Given the description of an element on the screen output the (x, y) to click on. 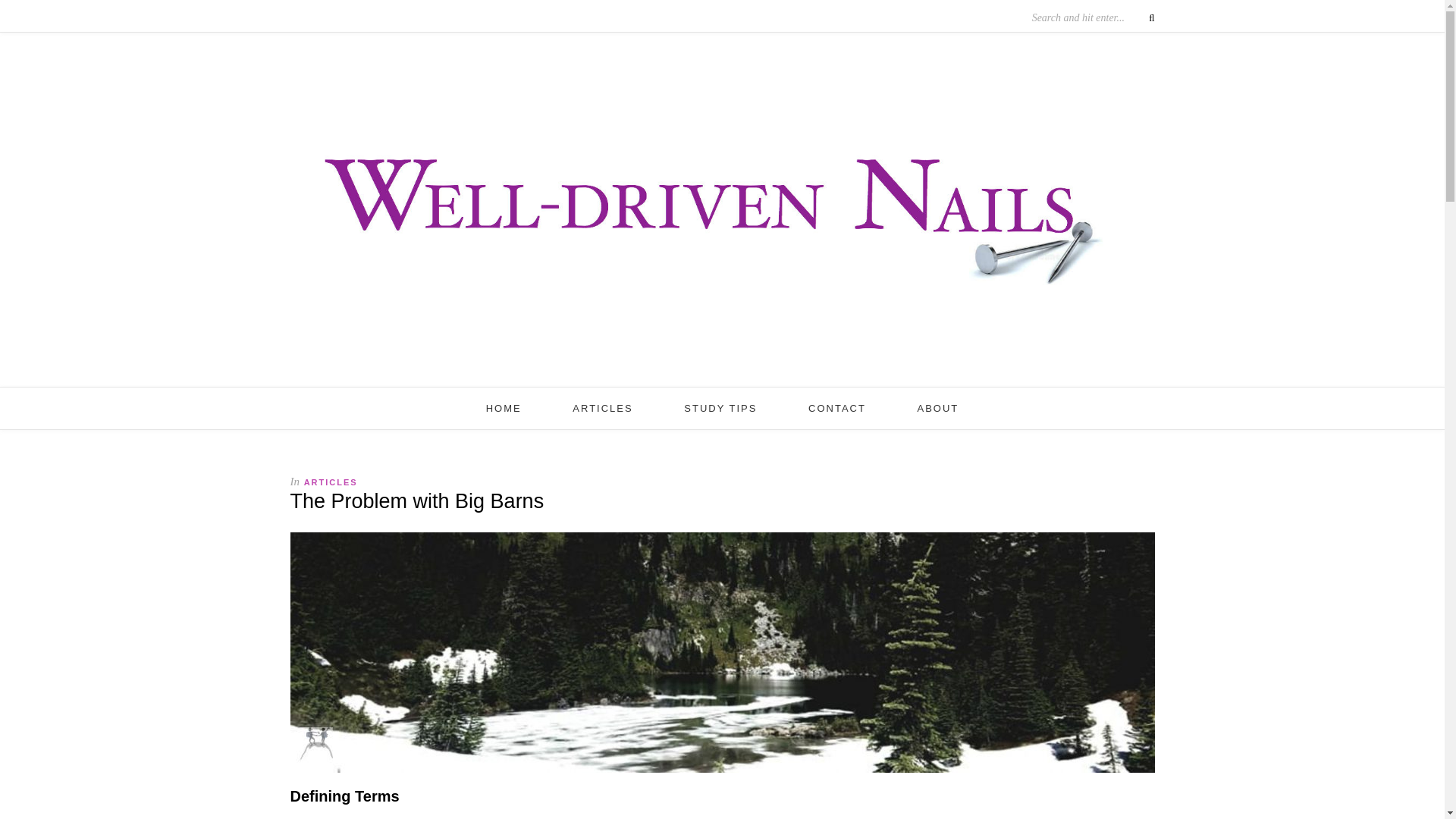
ARTICLES (601, 408)
ABOUT (938, 408)
ARTICLES (331, 481)
STUDY TIPS (720, 408)
CONTACT (837, 408)
